Given the description of an element on the screen output the (x, y) to click on. 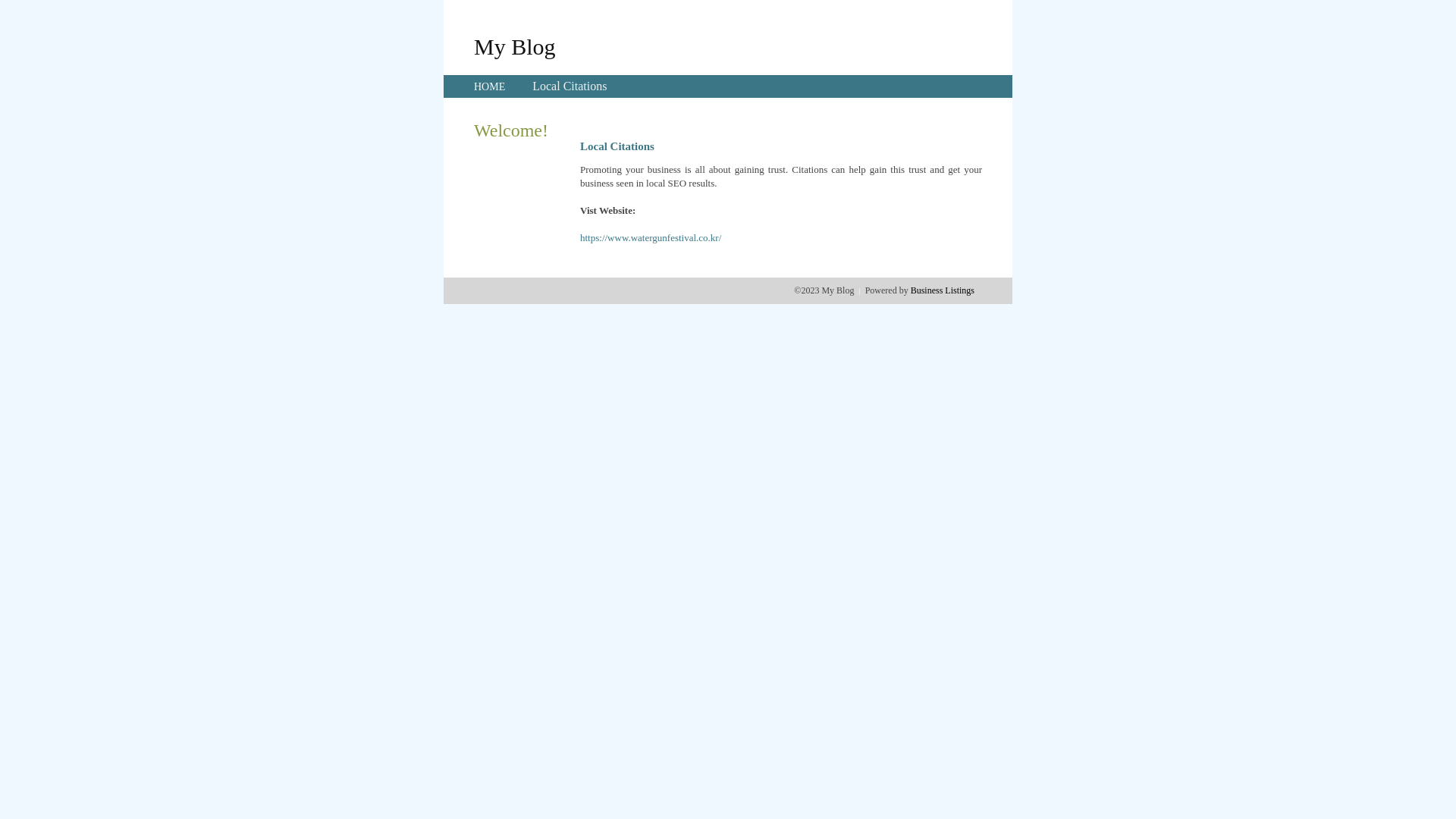
HOME Element type: text (489, 86)
Local Citations Element type: text (569, 85)
https://www.watergunfestival.co.kr/ Element type: text (650, 237)
My Blog Element type: text (514, 46)
Business Listings Element type: text (942, 290)
